Given the description of an element on the screen output the (x, y) to click on. 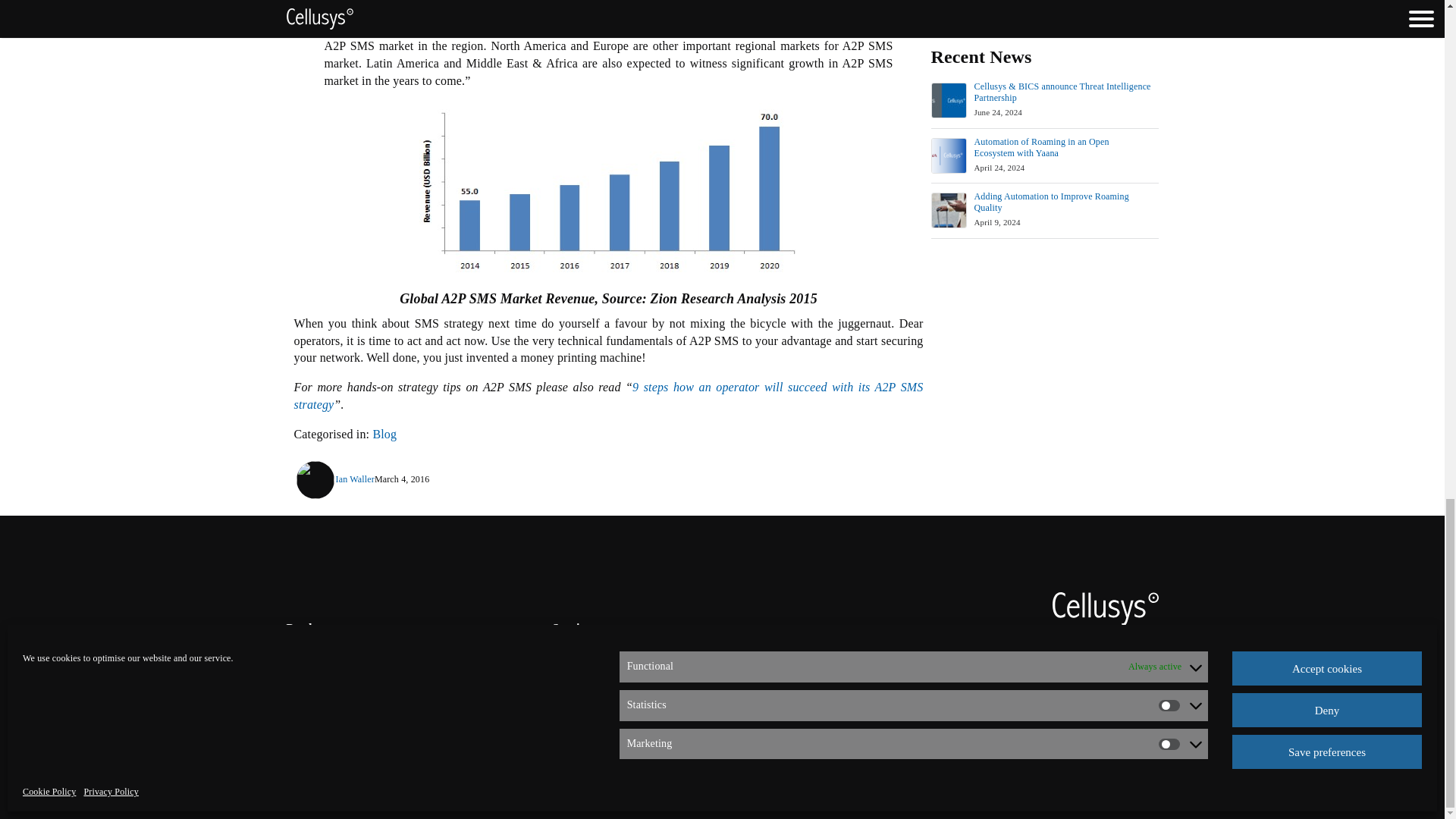
Posts by Ian Waller (354, 479)
